Given the description of an element on the screen output the (x, y) to click on. 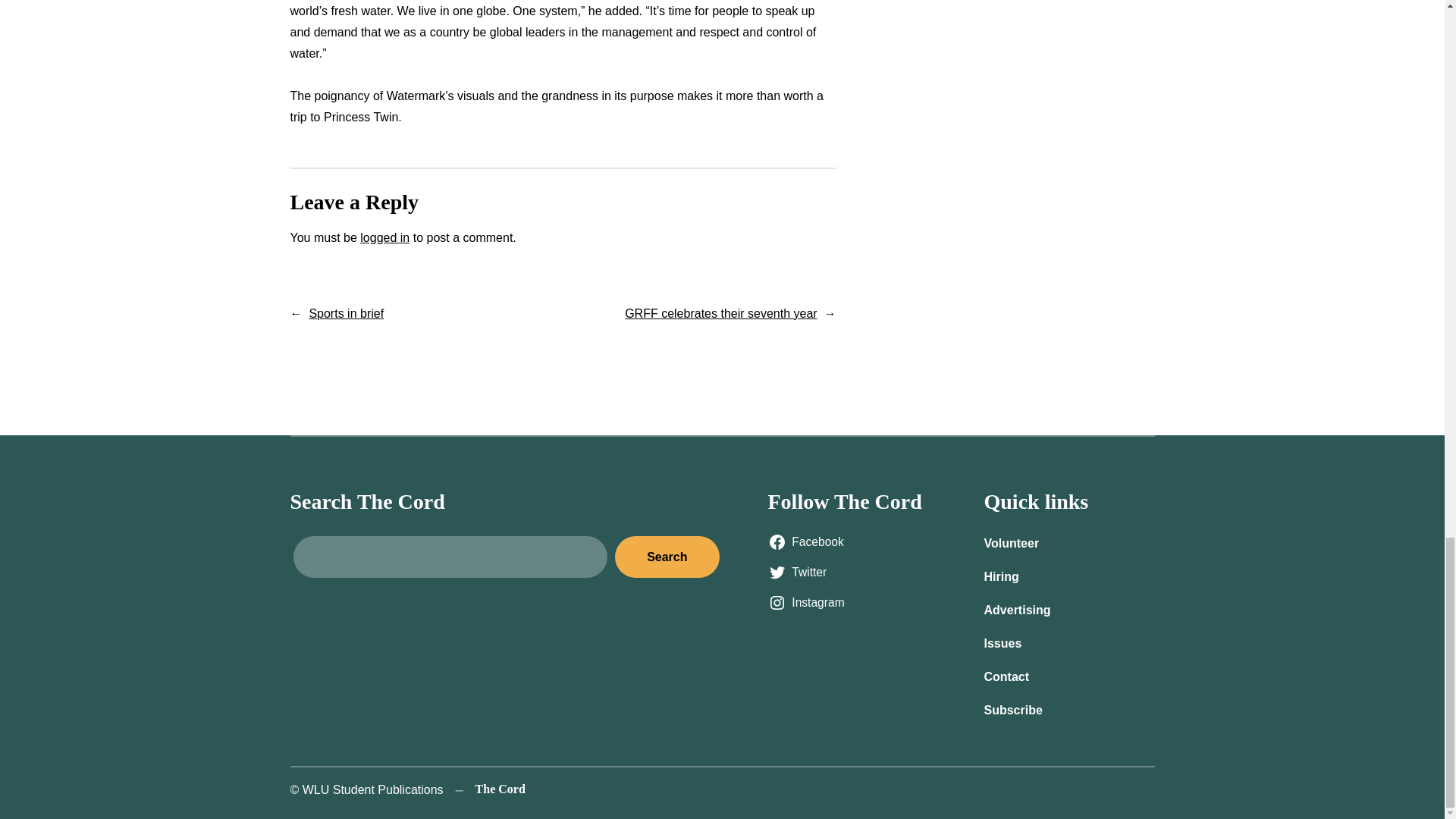
GRFF celebrates their seventh year (720, 313)
Sports in brief (346, 313)
logged in (384, 237)
